Given the description of an element on the screen output the (x, y) to click on. 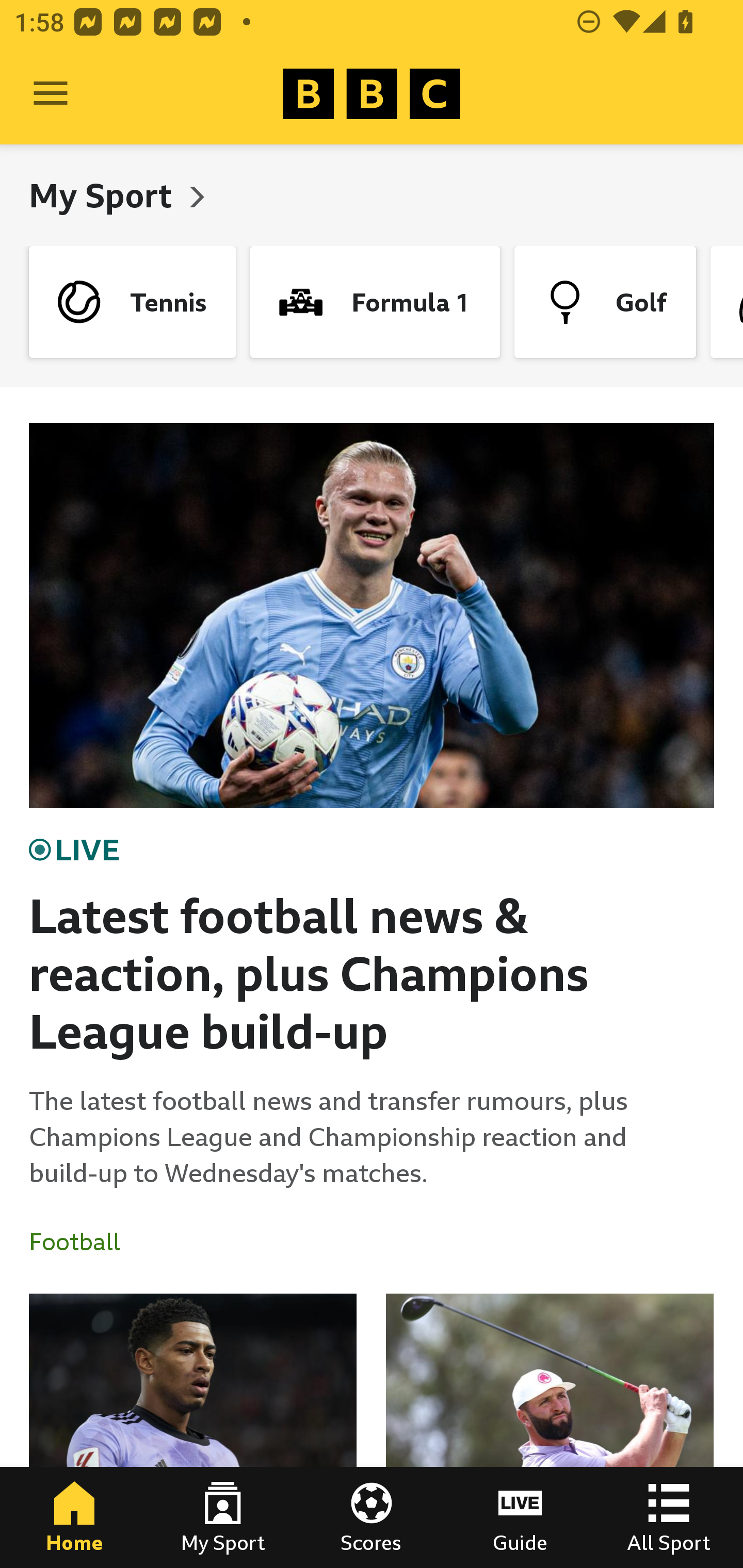
Open Menu (50, 93)
My Sport (104, 195)
Football In the section Football (81, 1241)
Real midfielder Bellingham banned for two games (192, 1430)
My Sport (222, 1517)
Scores (371, 1517)
Guide (519, 1517)
All Sport (668, 1517)
